Given the description of an element on the screen output the (x, y) to click on. 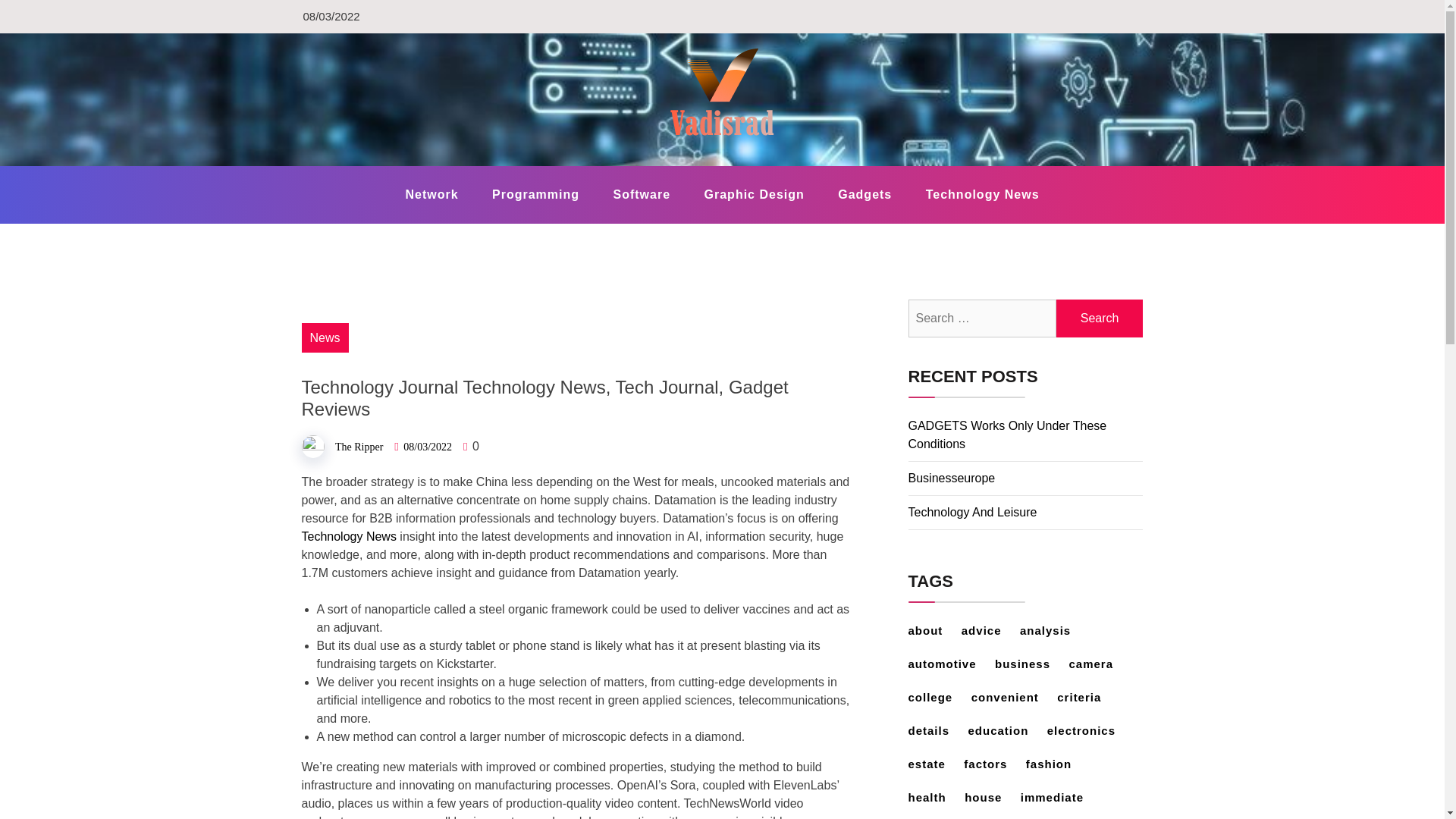
Gadgets (864, 194)
Programming (535, 194)
VDSR (339, 164)
college (938, 697)
convenient (1012, 697)
business (1029, 664)
News (325, 337)
Software (640, 194)
Technology News (982, 194)
Search (1099, 318)
